Given the description of an element on the screen output the (x, y) to click on. 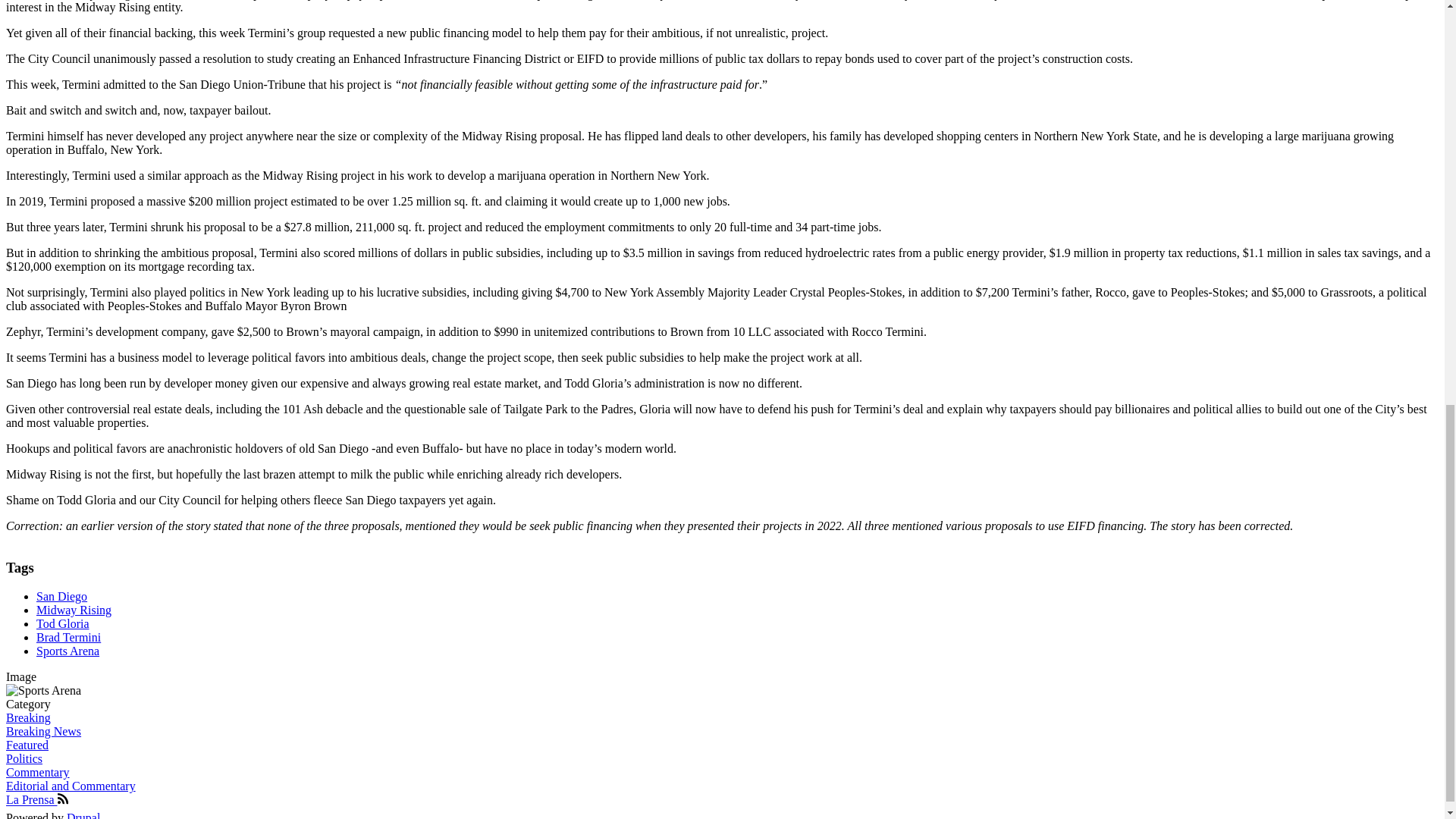
Breaking News (43, 730)
Sports Arena (67, 650)
Tod Gloria (62, 623)
Featured (26, 744)
Breaking (27, 717)
Politics (23, 758)
Editorial and Commentary (70, 785)
Midway Rising (74, 609)
Commentary (37, 771)
San Diego (61, 595)
Brad Termini (68, 636)
La Prensa (36, 799)
